Given the description of an element on the screen output the (x, y) to click on. 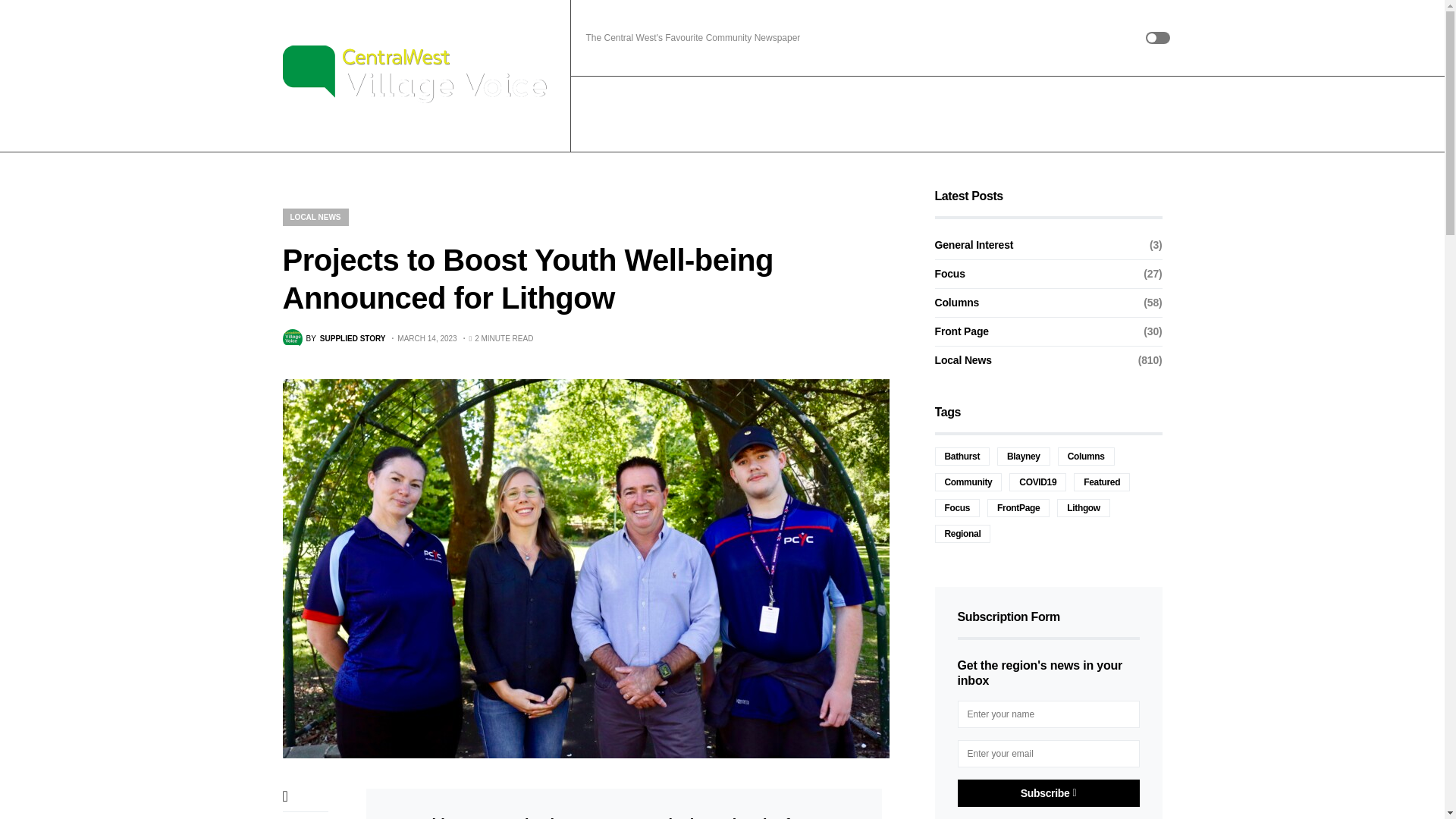
Community Announcements (772, 114)
View all posts by Supplied Story (333, 338)
Advertise with us (901, 114)
Pay What You Like (1143, 114)
